Given the description of an element on the screen output the (x, y) to click on. 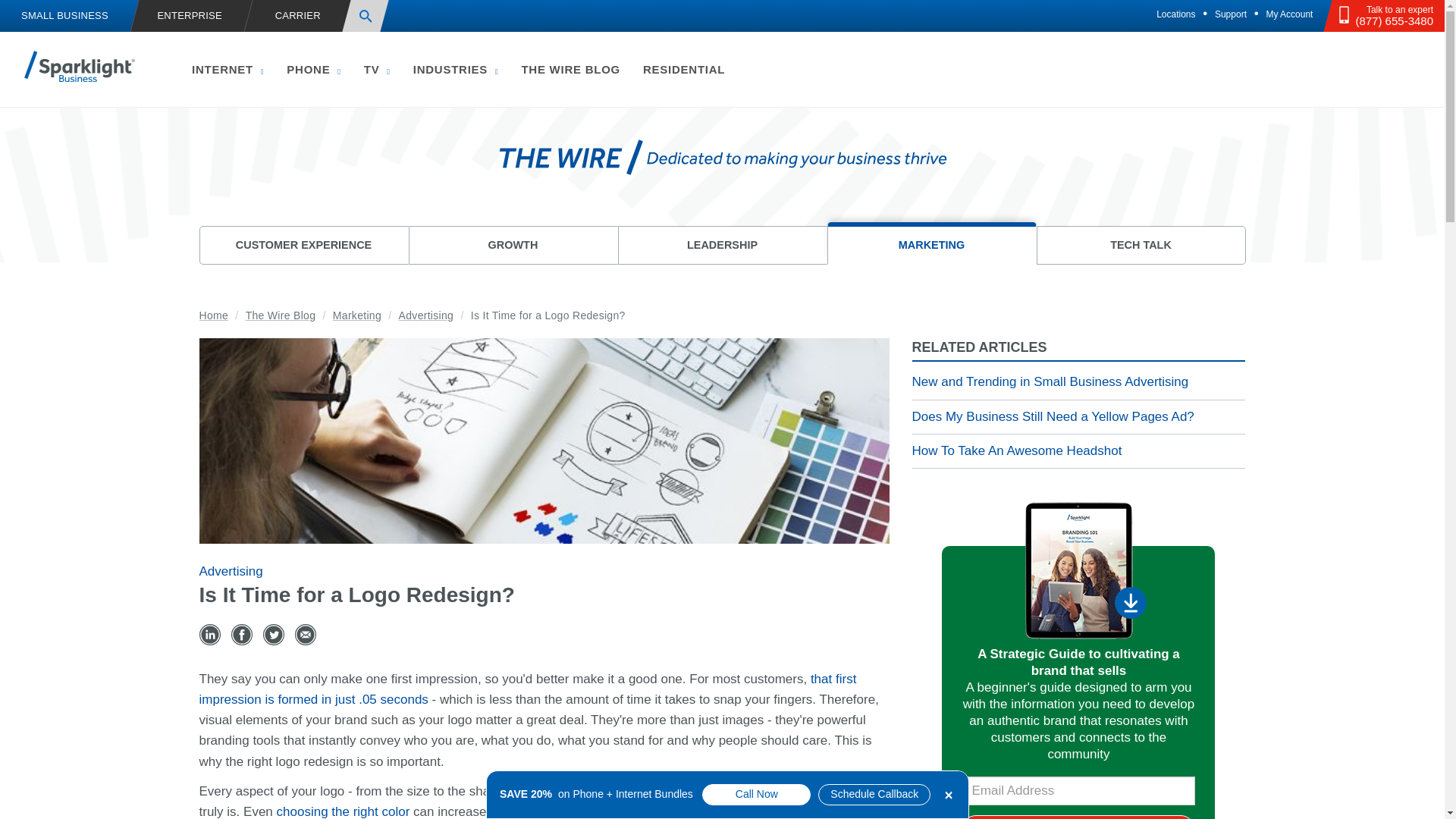
My Account (1289, 14)
CARRIER (297, 16)
ENTERPRISE (186, 16)
PHONE (313, 68)
TV (376, 68)
INTERNET (227, 68)
Support (1230, 14)
Locations (1175, 14)
Sparklight Business (79, 65)
SMALL BUSINESS (64, 16)
